Given the description of an element on the screen output the (x, y) to click on. 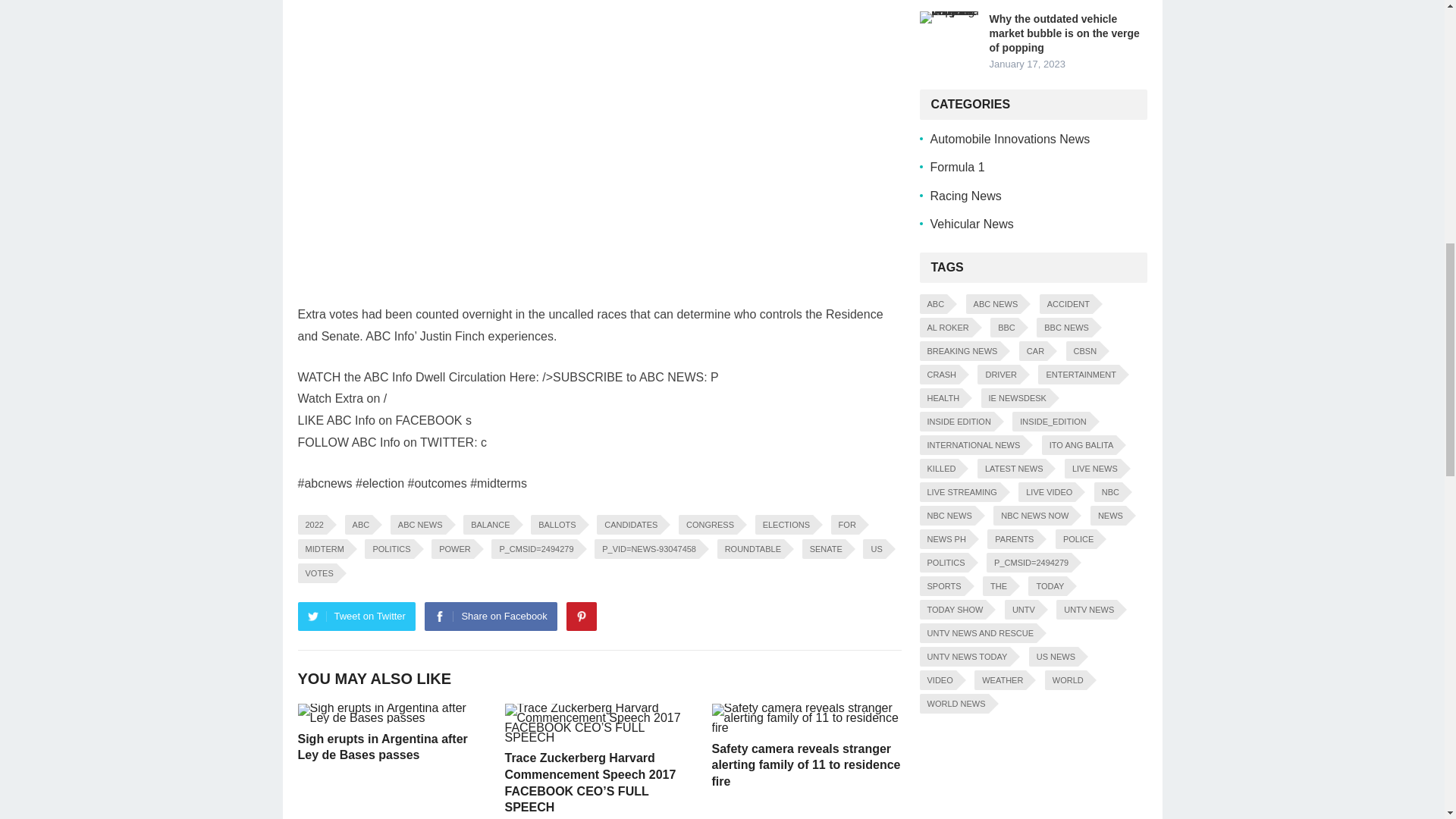
BALANCE (487, 524)
CANDIDATES (628, 524)
FOR (845, 524)
POLITICS (389, 548)
ABC (358, 524)
ABC NEWS (417, 524)
ELECTIONS (783, 524)
2022 (311, 524)
CONGRESS (707, 524)
POWER (452, 548)
